Given the description of an element on the screen output the (x, y) to click on. 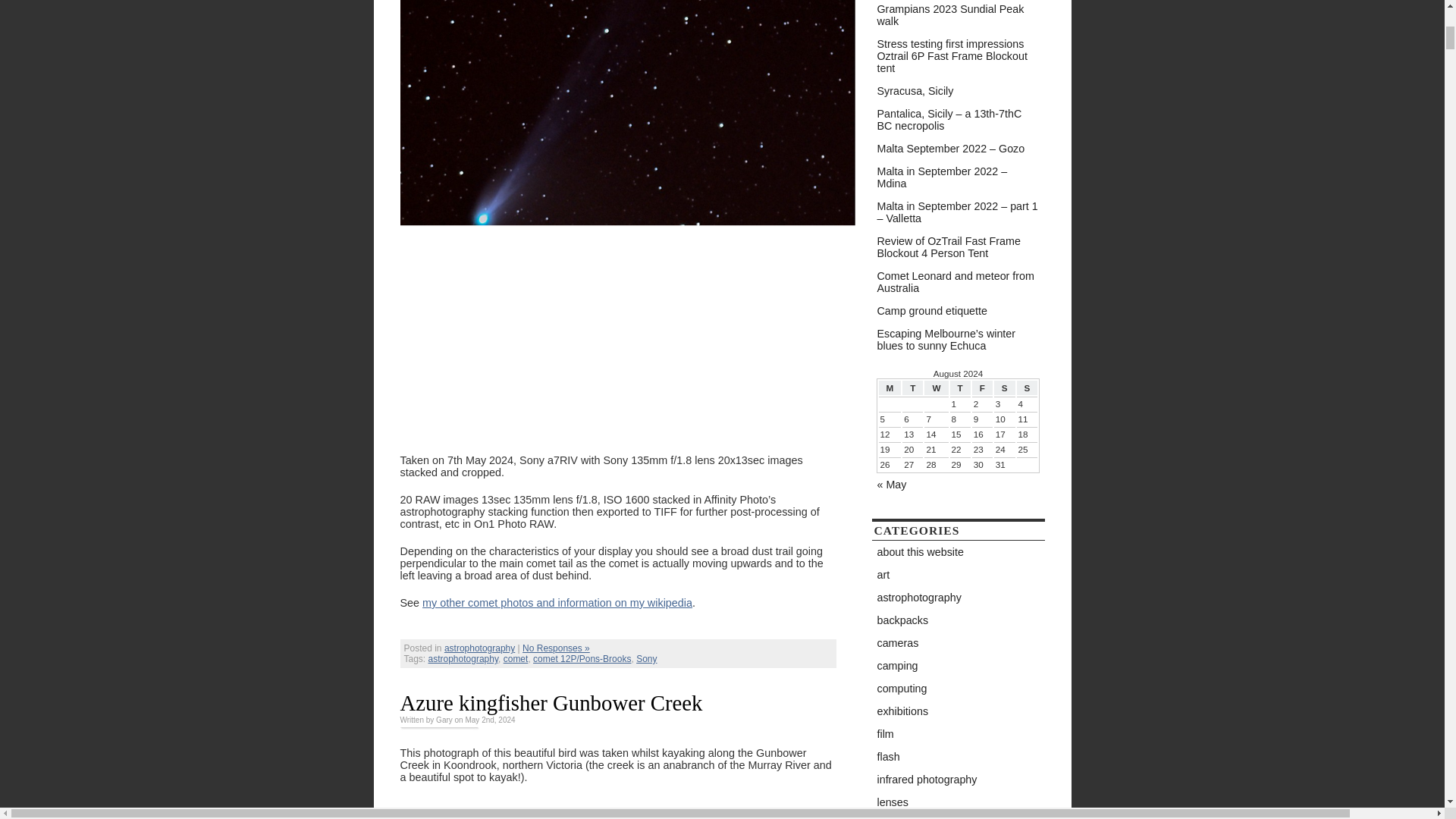
Permanent Link to Azure kingfisher Gunbower Creek (551, 702)
comet (515, 658)
Azure kingfisher Gunbower Creek (551, 702)
Sony (646, 658)
astrophotography (463, 658)
astrophotography (479, 647)
my other comet photos and information on my wikipedia (557, 603)
